Given the description of an element on the screen output the (x, y) to click on. 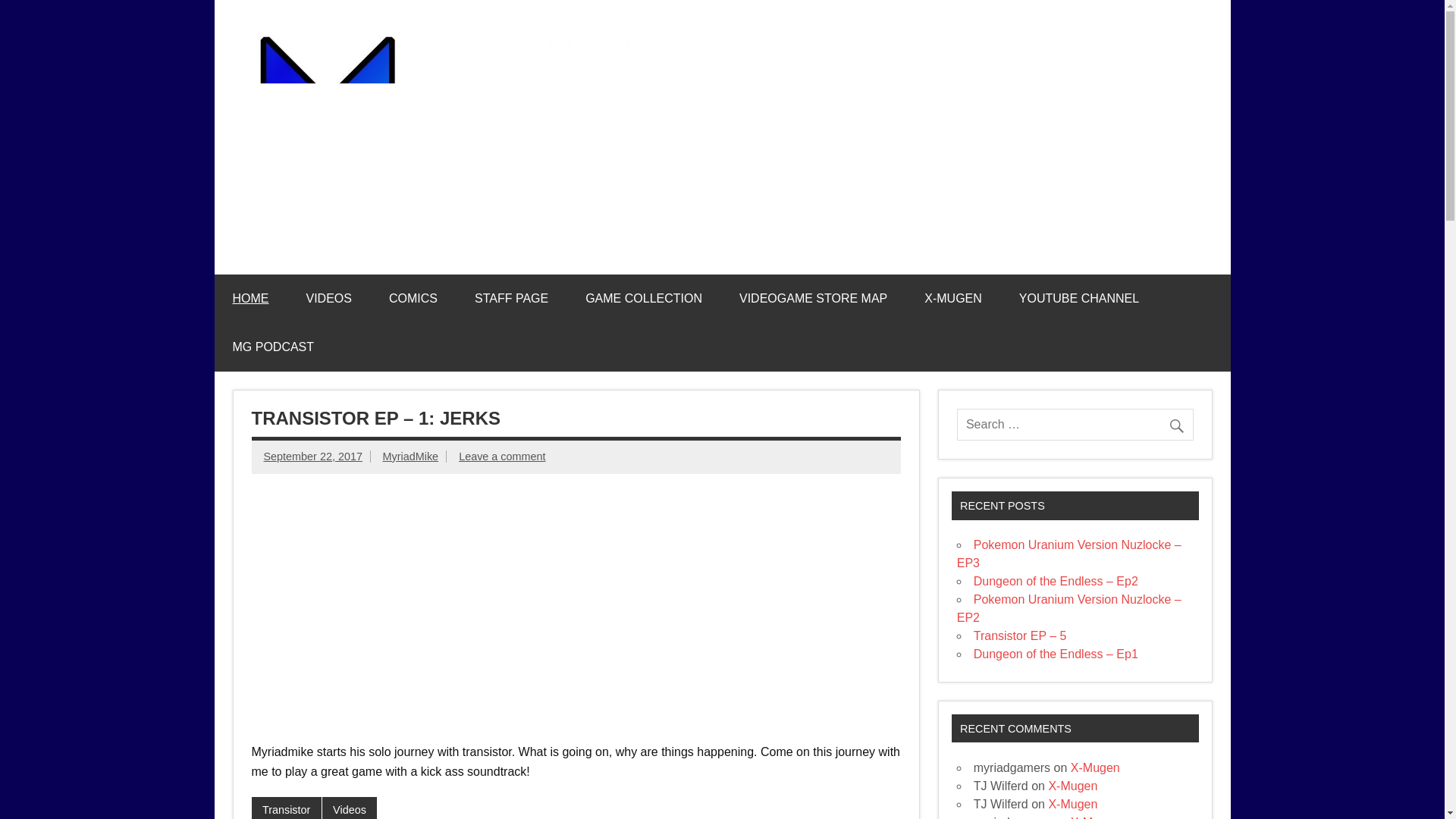
HOME (250, 298)
GAME COLLECTION (643, 298)
MyriadMike (410, 456)
VIDEOS (328, 298)
X-MUGEN (952, 298)
VIDEOGAME STORE MAP (812, 298)
9:31 pm (312, 456)
STAFF PAGE (511, 298)
COMICS (413, 298)
View all posts by MyriadMike (410, 456)
Leave a comment (501, 456)
MG PODCAST (272, 346)
September 22, 2017 (312, 456)
YOUTUBE CHANNEL (1079, 298)
Transistor (286, 807)
